Given the description of an element on the screen output the (x, y) to click on. 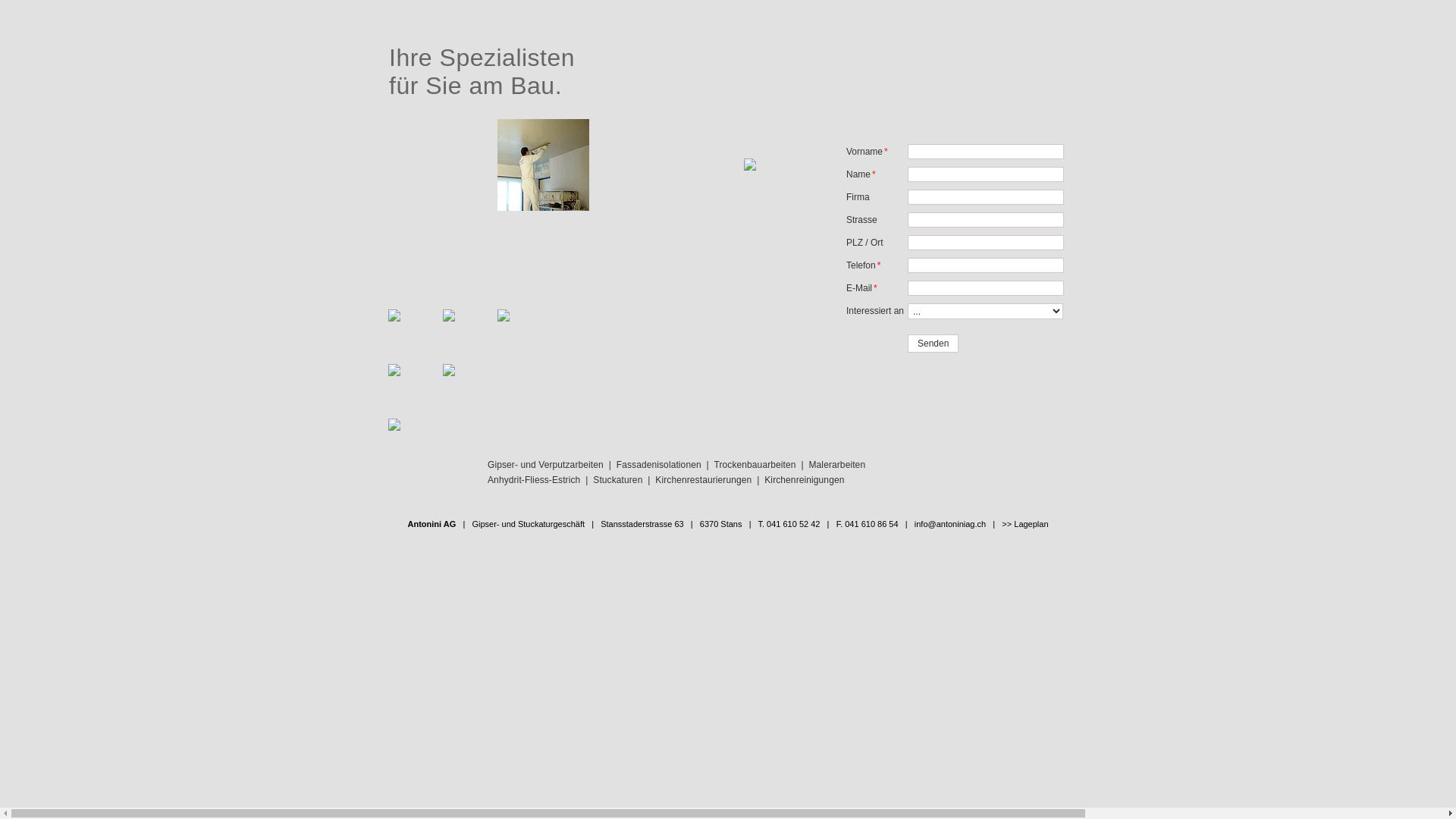
info@antoniniag.ch Element type: text (949, 523)
>> Lageplan Element type: text (1024, 523)
Senden Element type: text (932, 343)
